Given the description of an element on the screen output the (x, y) to click on. 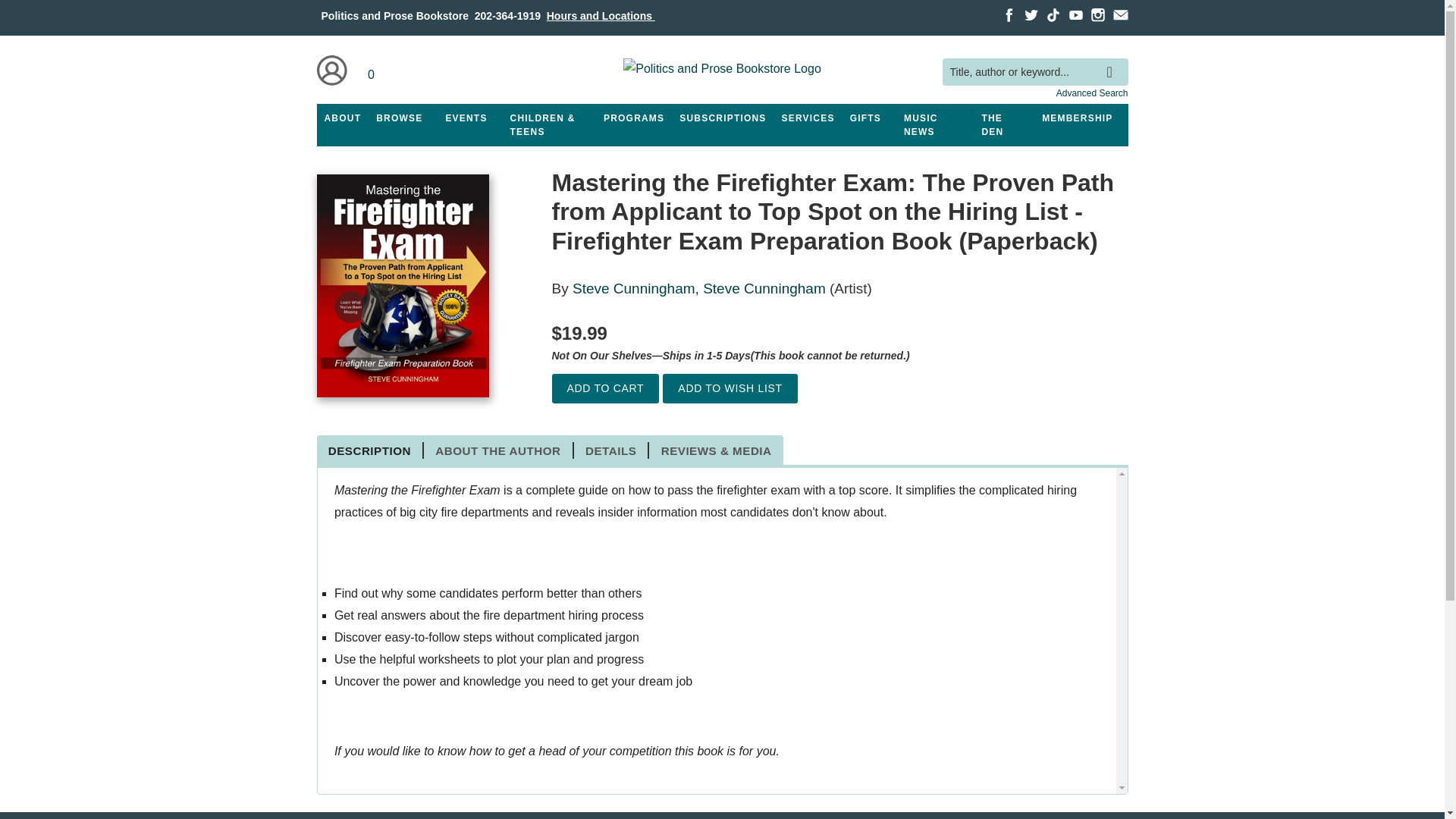
ABOUT (343, 118)
See our event calendar (465, 118)
search (1112, 60)
See our store ours and locations (601, 15)
EVENTS (465, 118)
Children and Teens Department (548, 125)
Browse our shelves (398, 118)
SUBSCRIPTIONS (722, 118)
Add to Cart (605, 388)
Add to Wish List (729, 388)
